Given the description of an element on the screen output the (x, y) to click on. 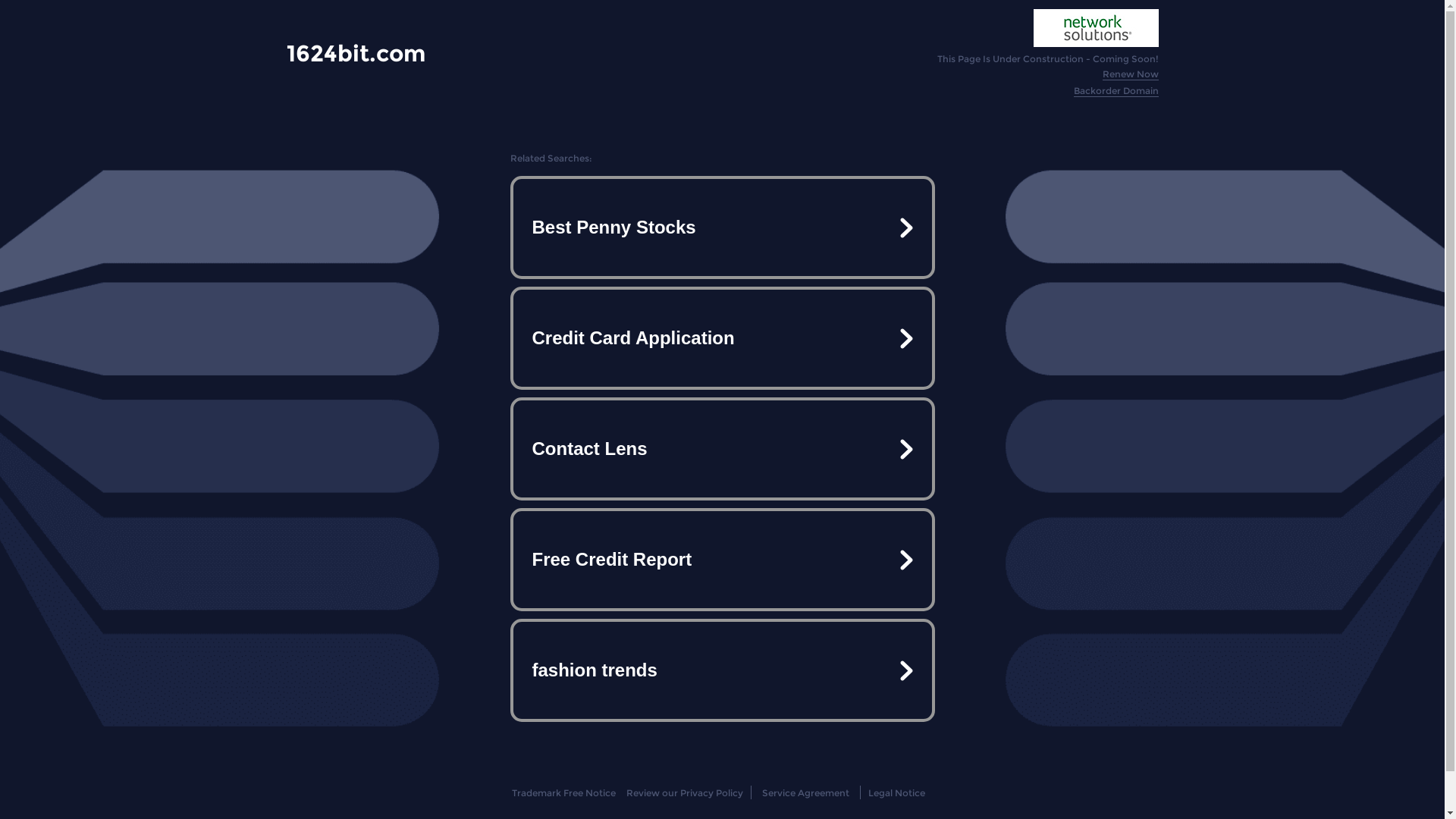
Review our Privacy Policy Element type: text (684, 792)
Free Credit Report Element type: text (721, 559)
Renew Now Element type: text (1130, 74)
Best Penny Stocks Element type: text (721, 227)
1624bit.com Element type: text (355, 53)
fashion trends Element type: text (721, 669)
Service Agreement Element type: text (805, 792)
Contact Lens Element type: text (721, 448)
Backorder Domain Element type: text (1115, 90)
Trademark Free Notice Element type: text (563, 792)
Legal Notice Element type: text (896, 792)
Credit Card Application Element type: text (721, 337)
